Given the description of an element on the screen output the (x, y) to click on. 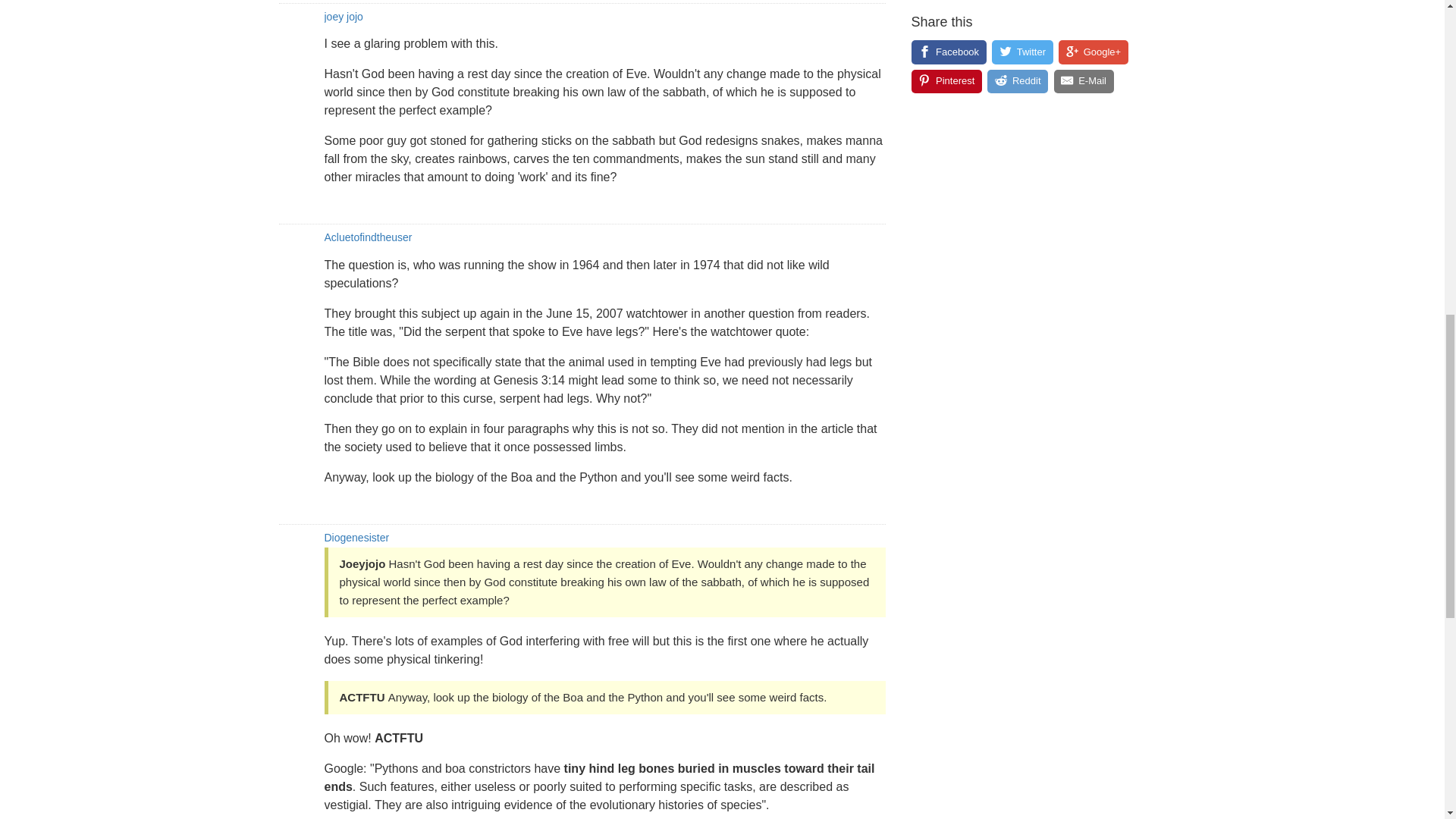
joey jojo (343, 16)
Acluetofindtheuser (368, 236)
Diogenesister (357, 537)
